Given the description of an element on the screen output the (x, y) to click on. 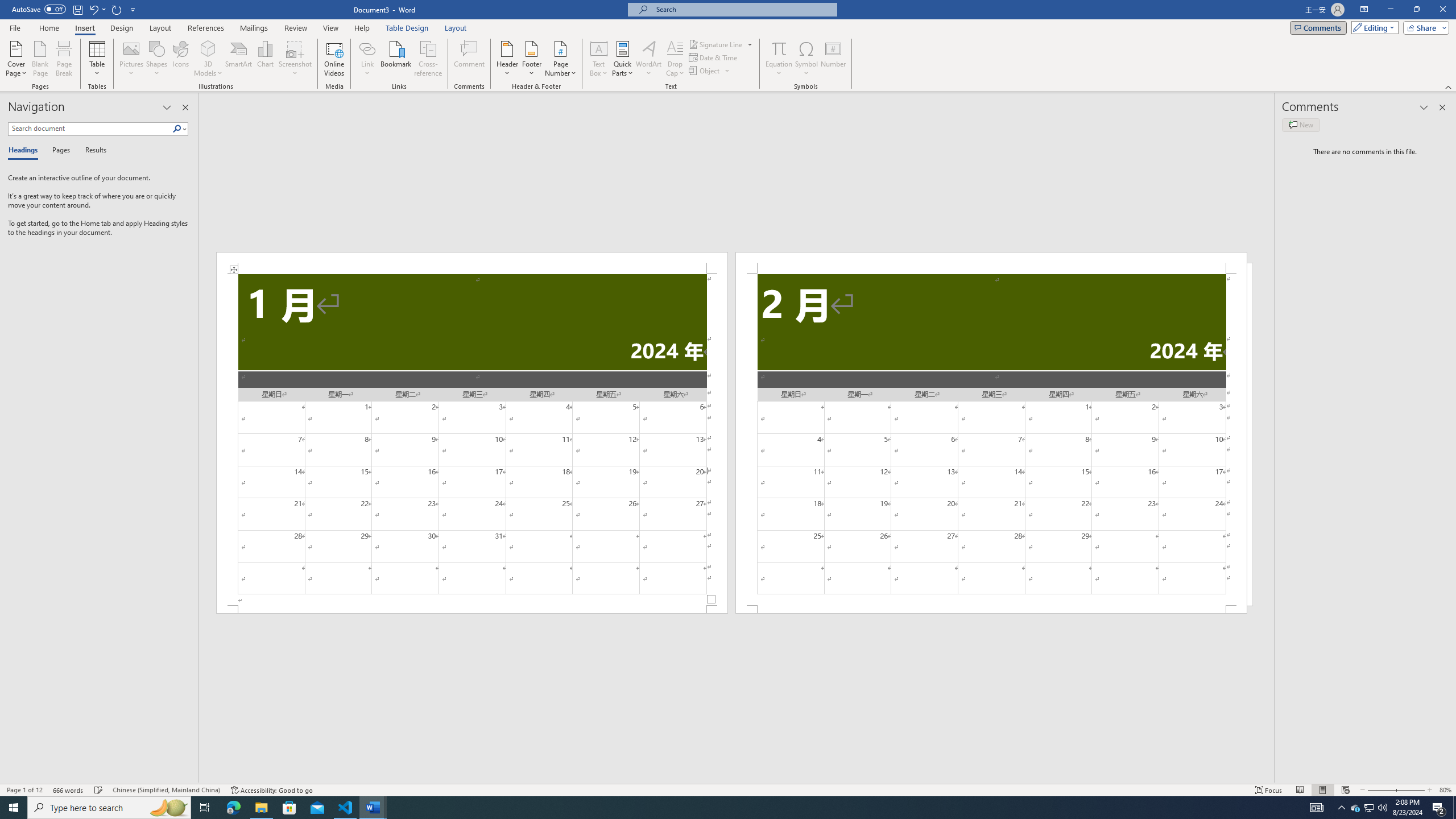
Shapes (156, 58)
Task Pane Options (167, 107)
Focus  (1268, 790)
Cover Page (16, 58)
Results (91, 150)
AutoSave (38, 9)
Link (367, 48)
Page Break (63, 58)
Search (179, 128)
Restore Down (1416, 9)
Zoom Out (1378, 790)
Class: NetUIImage (177, 128)
Footer -Section 2- (991, 609)
